Given the description of an element on the screen output the (x, y) to click on. 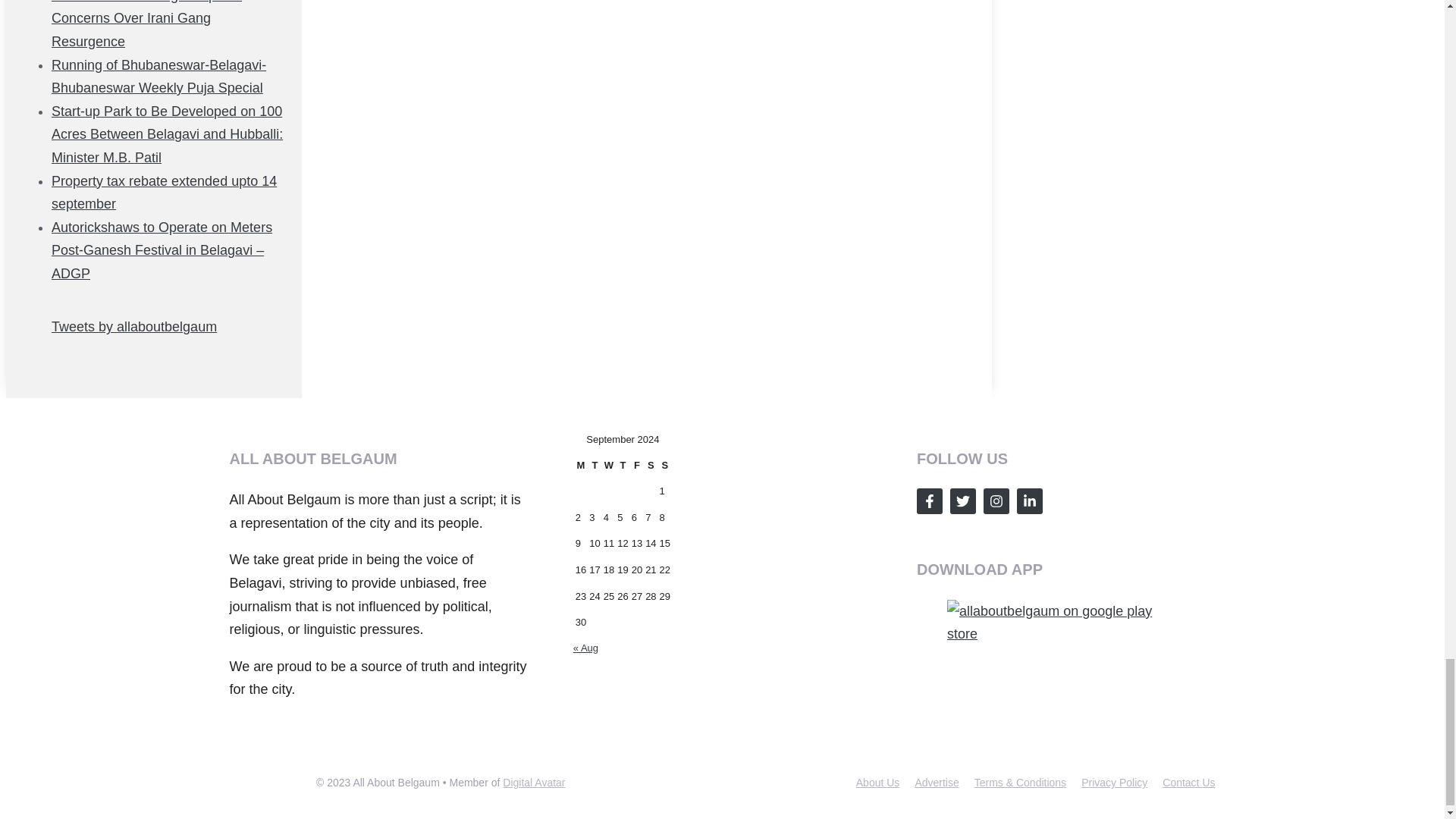
Tweets by allaboutbelgaum (133, 326)
Property tax rebate extended upto 14 september (163, 192)
